Given the description of an element on the screen output the (x, y) to click on. 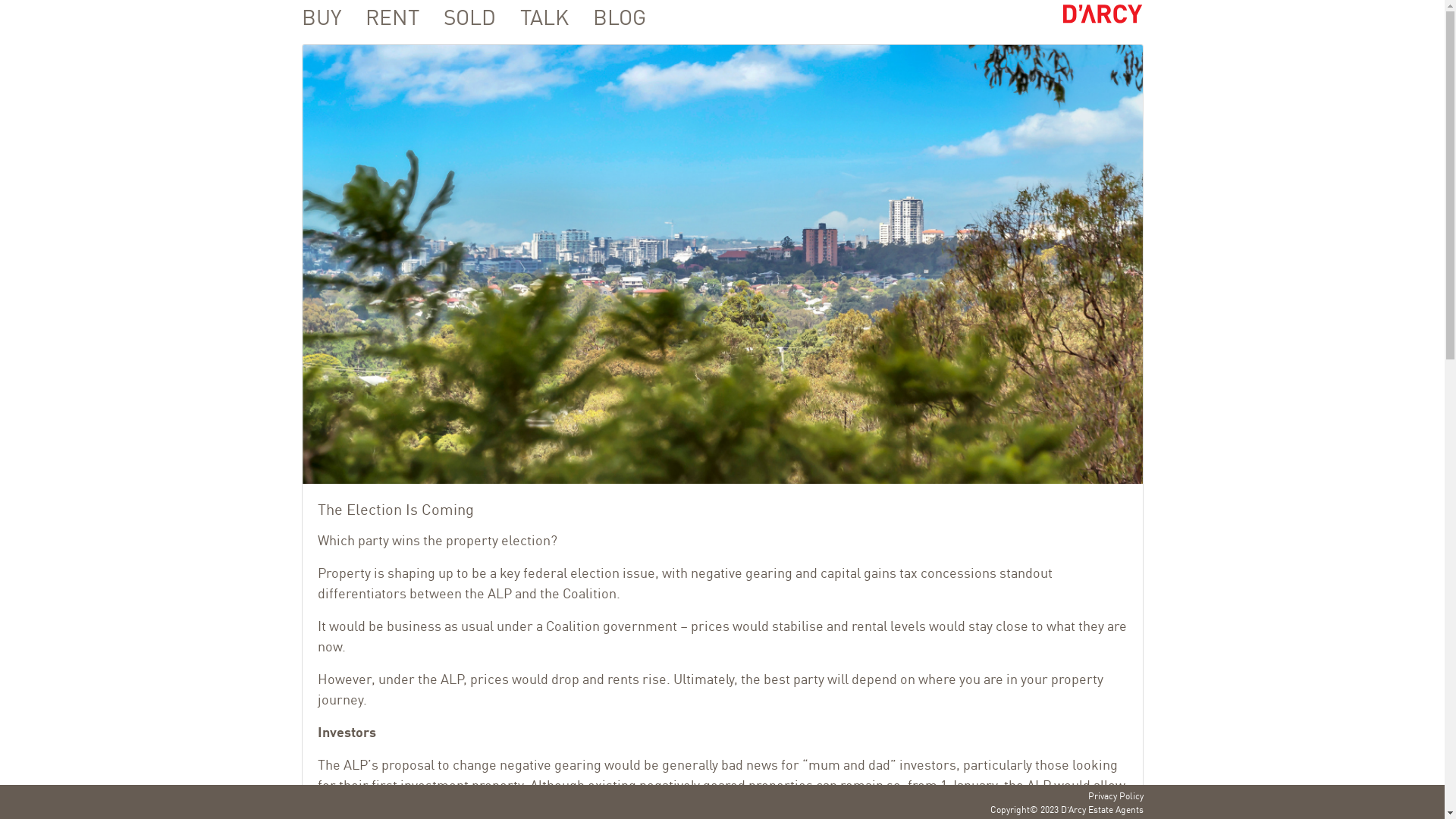
SOLD Element type: text (458, 15)
TALK Element type: text (533, 15)
The Election Is Coming Element type: hover (721, 263)
Privacy Policy Element type: text (1114, 794)
BUY Element type: text (321, 15)
RENT Element type: text (381, 15)
BLOG Element type: text (608, 15)
